Given the description of an element on the screen output the (x, y) to click on. 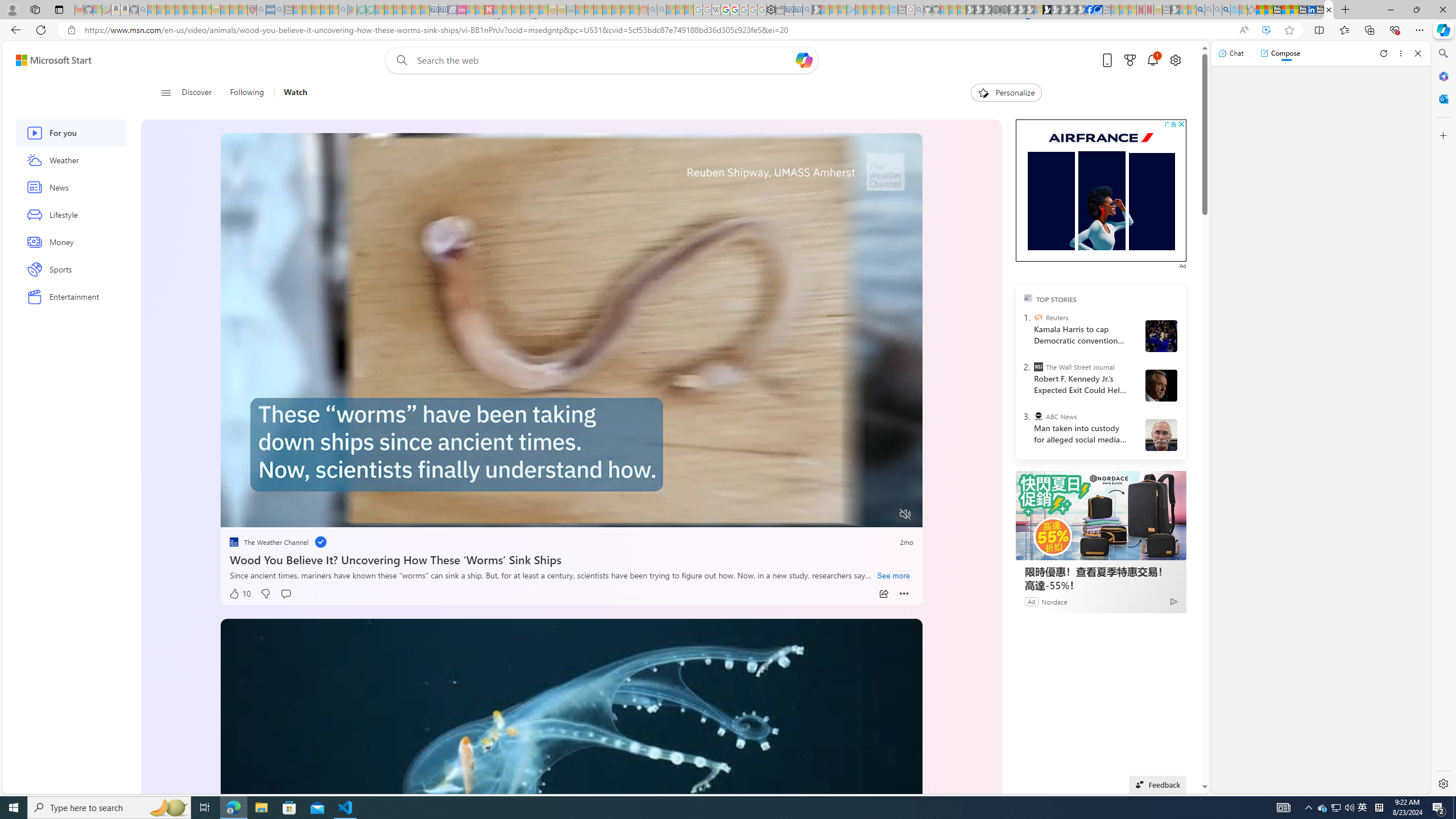
Sign in to your account - Sleeping (1038, 9)
Watch (290, 92)
Home | Sky Blue Bikes - Sky Blue Bikes - Sleeping (892, 9)
Skip to footer (46, 59)
utah sues federal government - Search - Sleeping (279, 9)
